Given the description of an element on the screen output the (x, y) to click on. 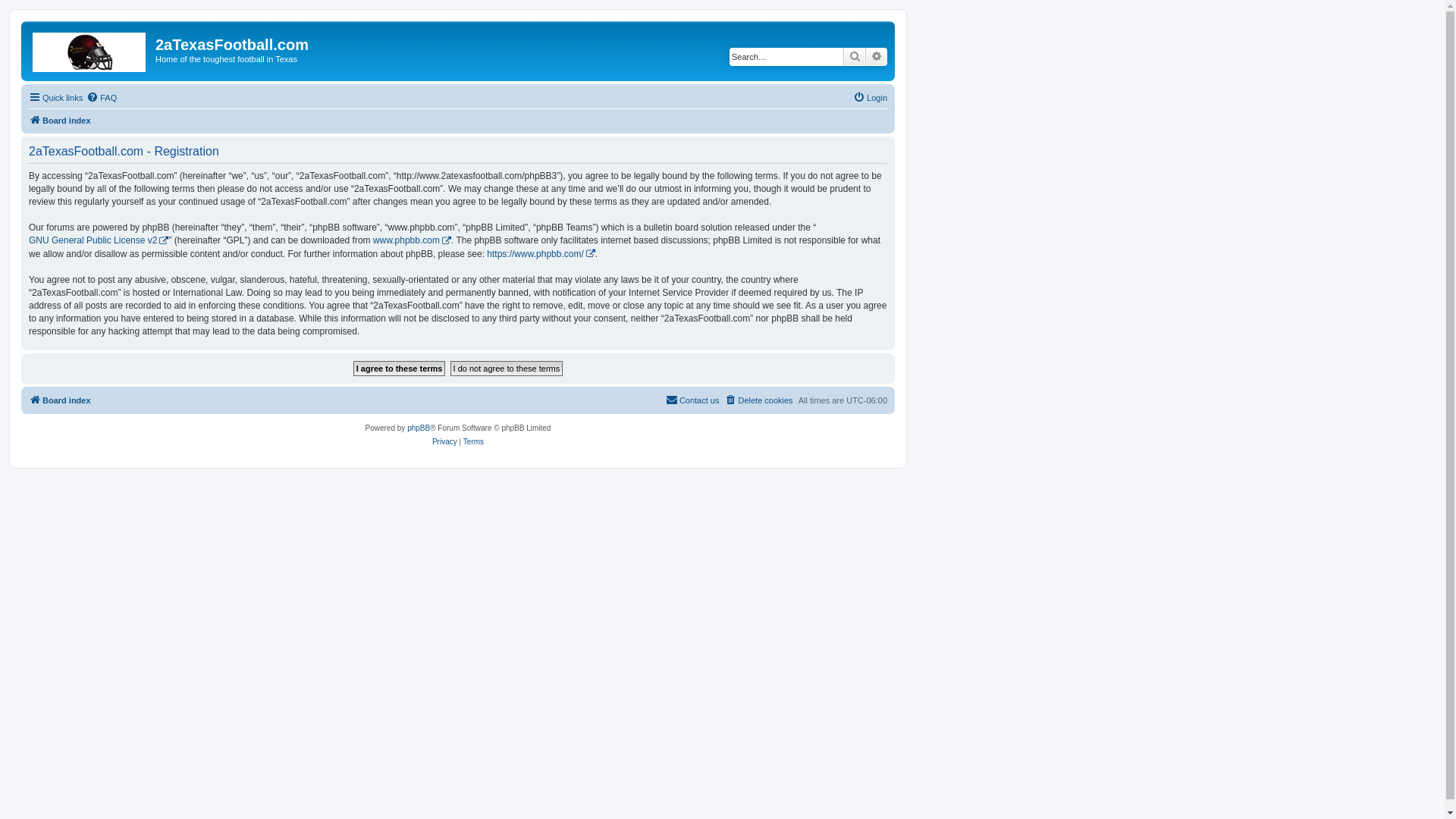
I do not agree to these terms Element type: text (506, 368)
Board index Element type: text (59, 400)
Login Element type: text (870, 97)
I agree to these terms Element type: text (399, 368)
Advanced search Element type: text (876, 56)
GNU General Public License v2 Element type: text (98, 240)
Board index Element type: text (59, 120)
FAQ Element type: text (101, 97)
Quick links Element type: text (55, 97)
https://www.phpbb.com/ Element type: text (540, 253)
www.phpbb.com Element type: text (412, 240)
Contact us Element type: text (692, 400)
Delete cookies Element type: text (758, 400)
Privacy Element type: text (444, 441)
Search for keywords Element type: hover (786, 56)
Board index Element type: hover (90, 49)
Search Element type: text (854, 56)
phpBB Element type: text (418, 428)
Terms Element type: text (473, 441)
